Given the description of an element on the screen output the (x, y) to click on. 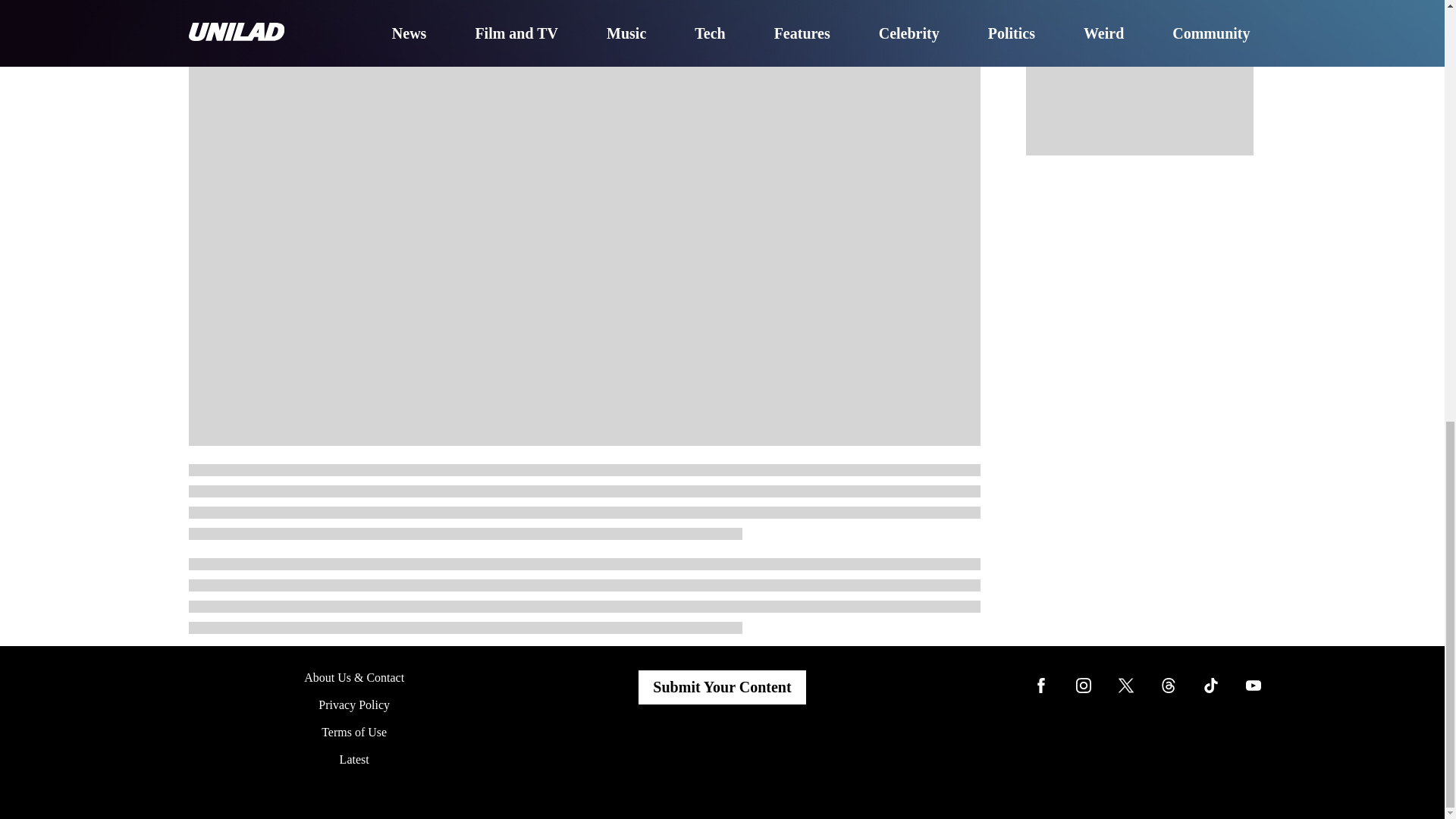
Latest (354, 758)
Privacy Policy (354, 704)
Terms of Use (354, 731)
Submit Your Content (721, 686)
